Given the description of an element on the screen output the (x, y) to click on. 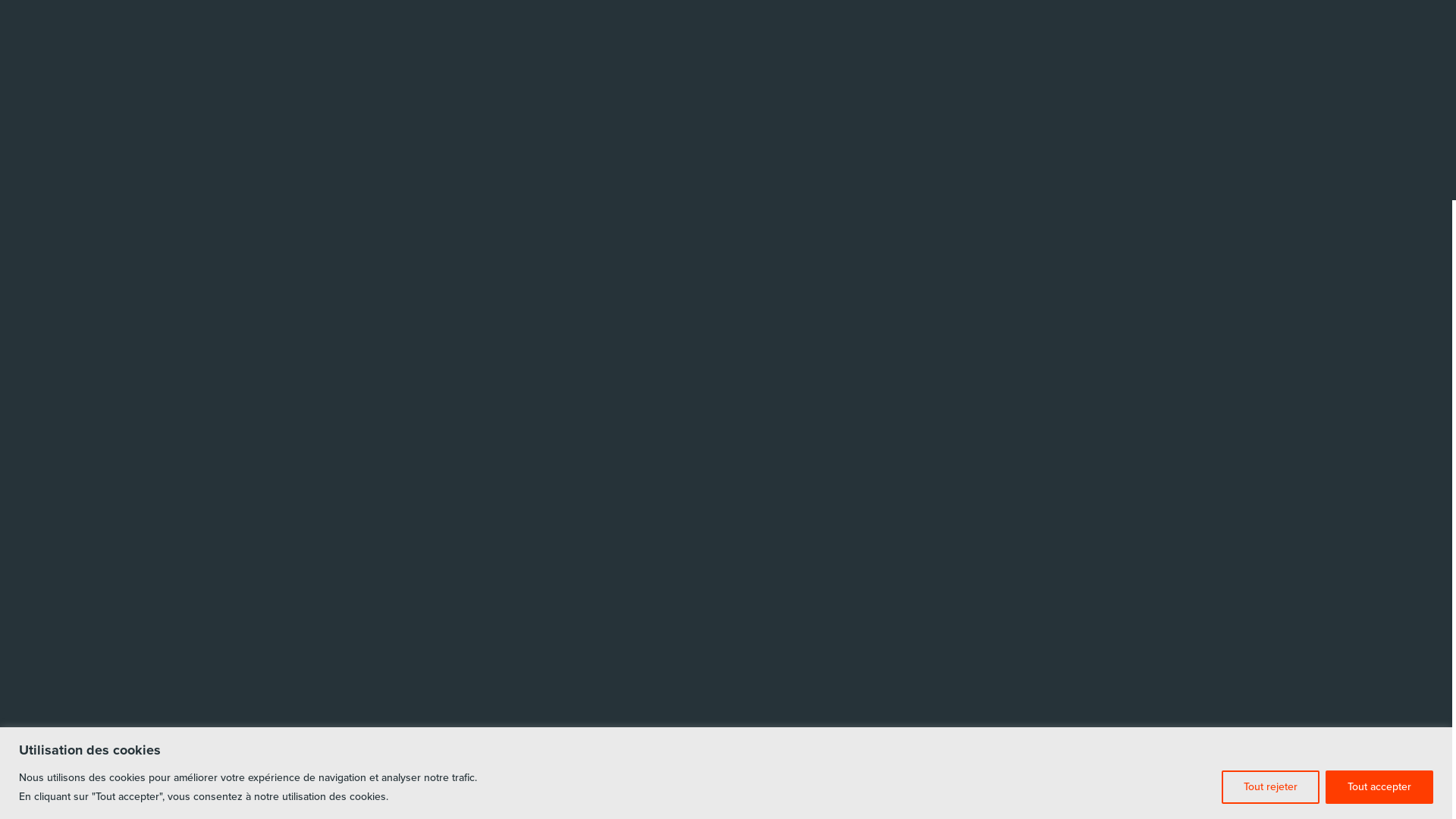
Tout rejeter Element type: text (1270, 786)
Devis Element type: text (155, 399)
Tout accepter Element type: text (1379, 786)
Projet Element type: text (182, 194)
